Given the description of an element on the screen output the (x, y) to click on. 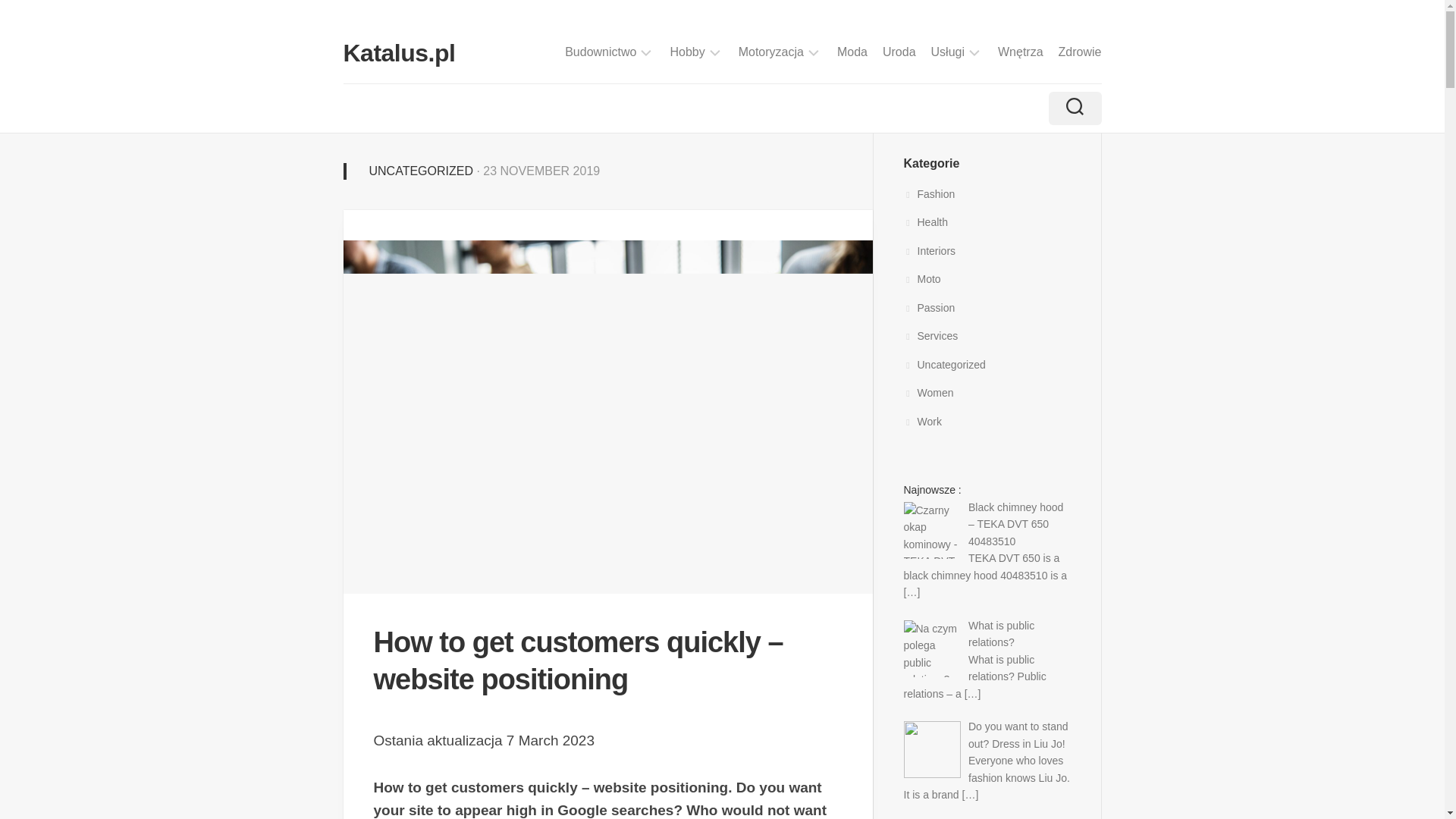
Hobby (686, 52)
Zdrowie (1080, 52)
Katalus.pl (398, 53)
Moda (852, 52)
Uroda (898, 52)
Motoryzacja (770, 52)
Budownictwo (600, 52)
UNCATEGORIZED (419, 170)
